Given the description of an element on the screen output the (x, y) to click on. 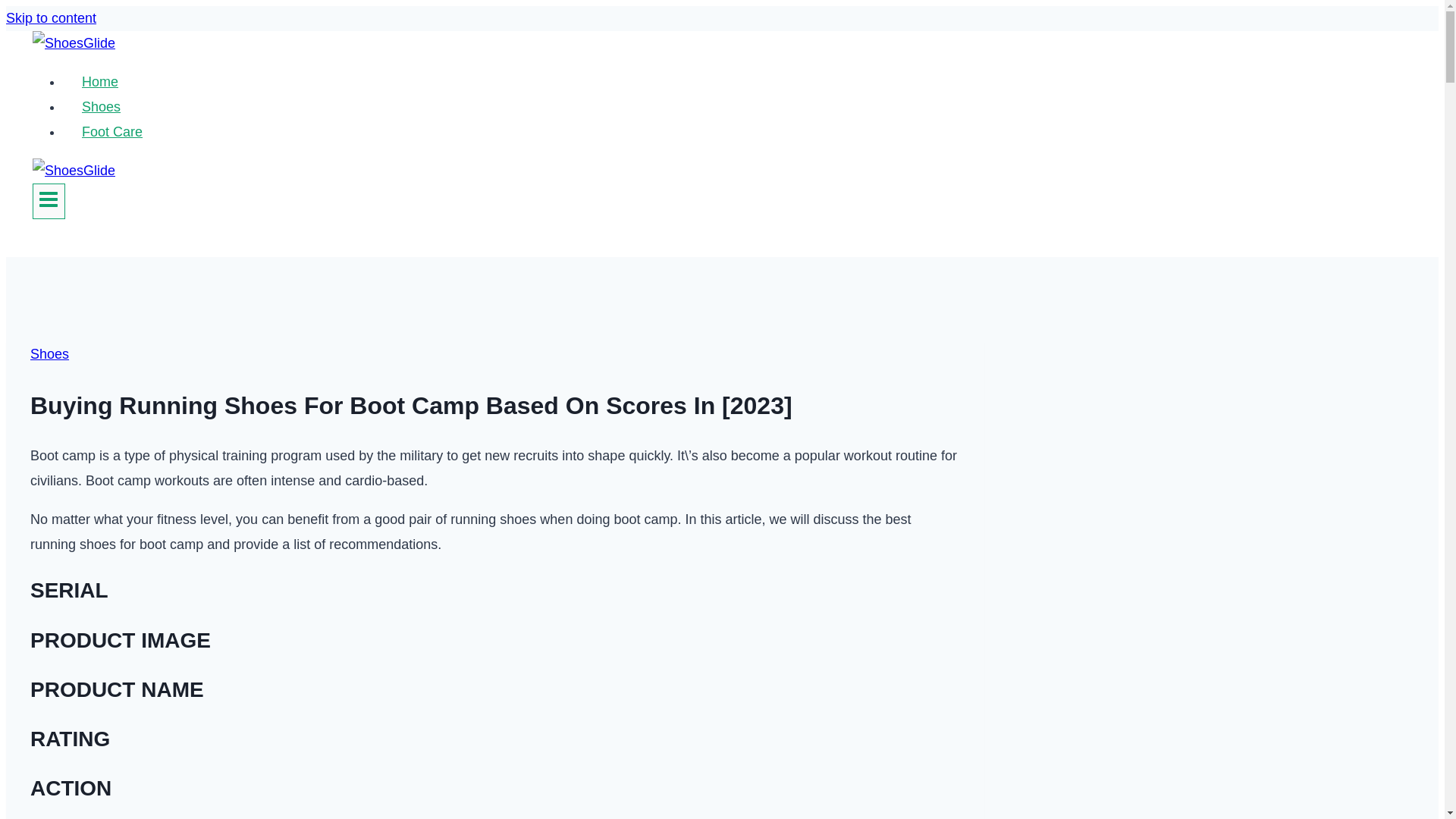
Skip to content (50, 17)
Skip to content (50, 17)
Shoes (49, 353)
Shoes (100, 106)
Foot Care (111, 131)
Toggle Menu (48, 201)
Toggle Menu (48, 199)
Home (99, 81)
